Given the description of an element on the screen output the (x, y) to click on. 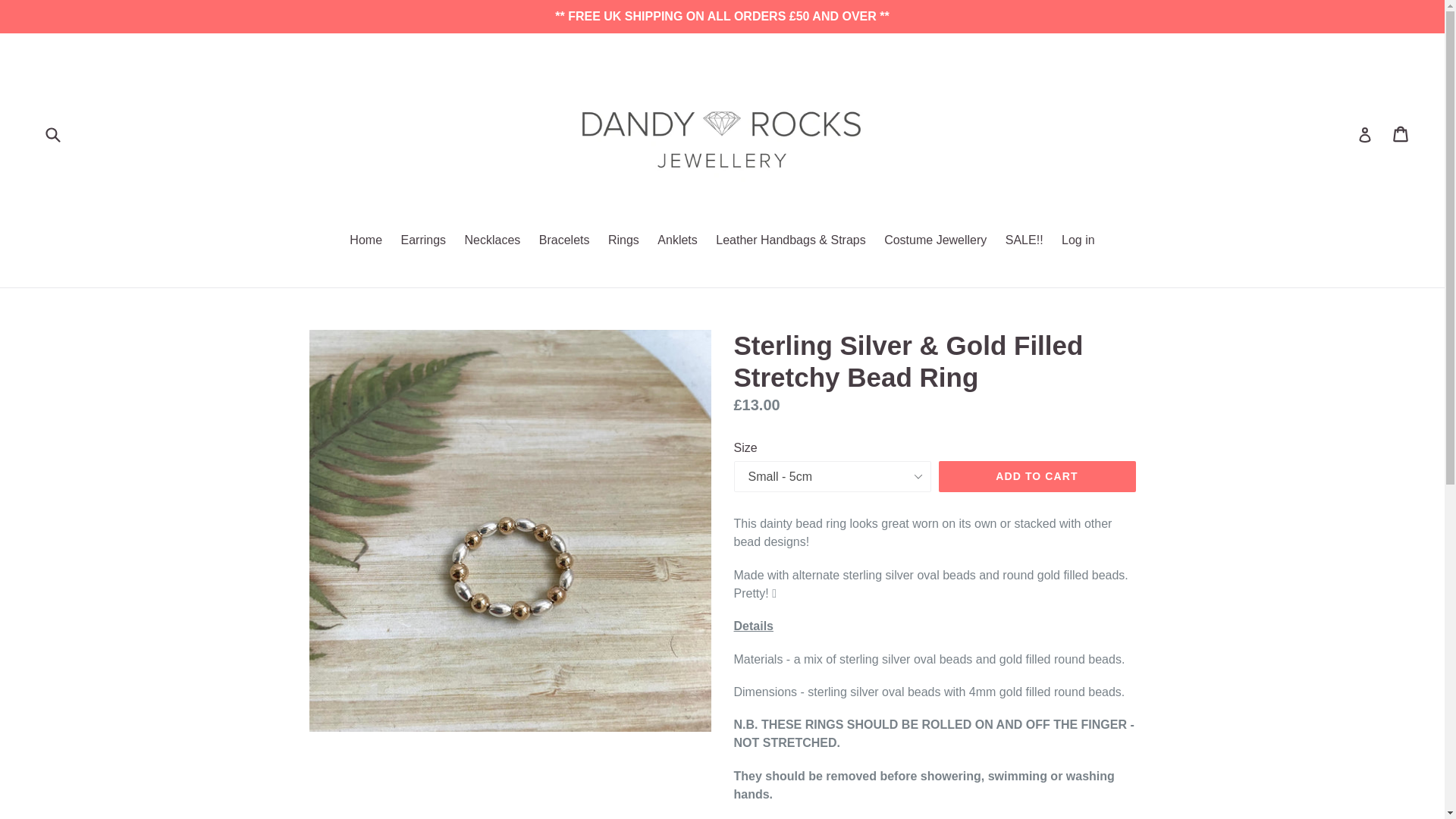
Log in (1078, 240)
Home (366, 240)
SALE!! (1024, 240)
Rings (622, 240)
ADD TO CART (1037, 477)
Bracelets (563, 240)
Earrings (422, 240)
Necklaces (492, 240)
Anklets (676, 240)
Costume Jewellery (935, 240)
